Given the description of an element on the screen output the (x, y) to click on. 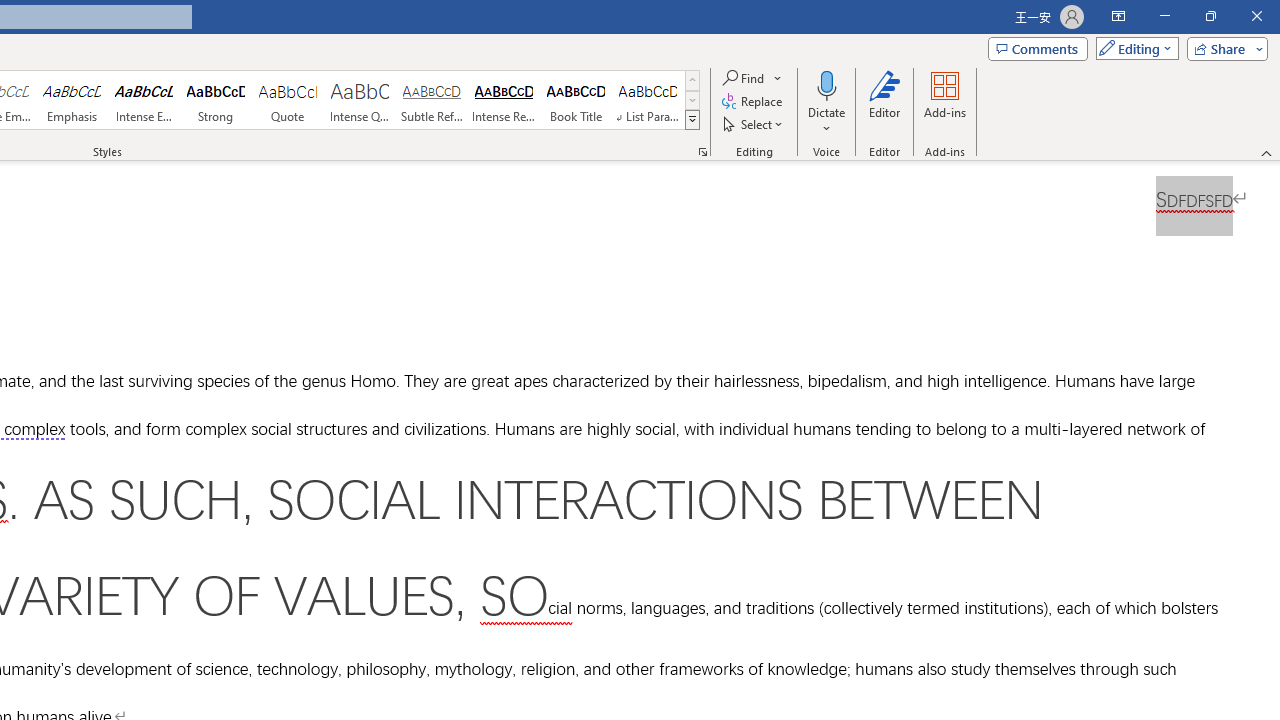
Styles (692, 120)
Subtle Reference (431, 100)
Styles... (702, 151)
Replace... (753, 101)
